Given the description of an element on the screen output the (x, y) to click on. 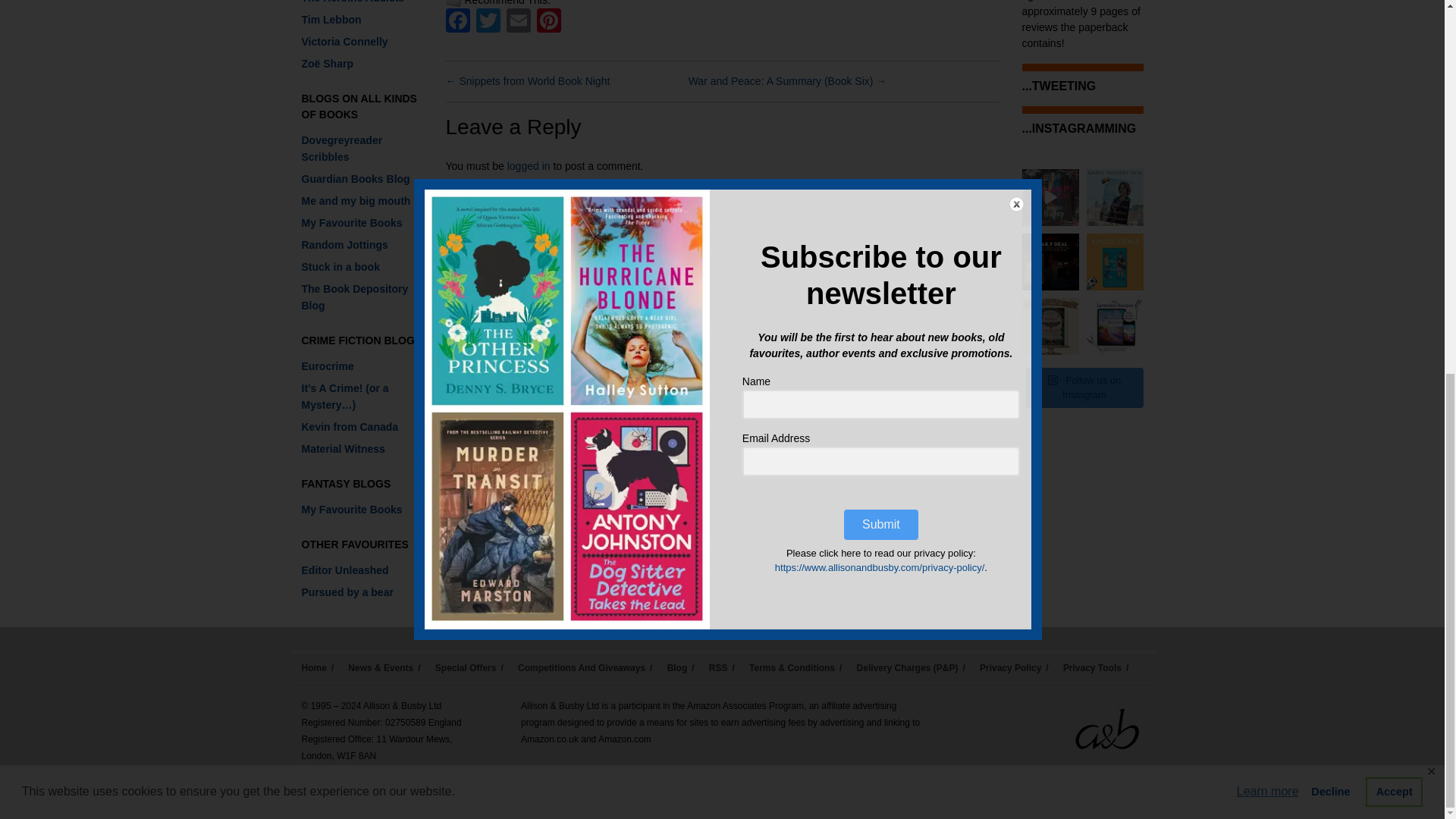
A penchant for fantasy but reviews everything (352, 223)
Victoria Connelly (344, 41)
A commuting book and opera-holic from Colchester (344, 244)
Decline (1330, 108)
Learn more (1267, 108)
Reviews all books and a lot of crime (343, 449)
Accept (1393, 108)
Tim Lebbon (331, 19)
The Heroine Addicts (352, 2)
